Given the description of an element on the screen output the (x, y) to click on. 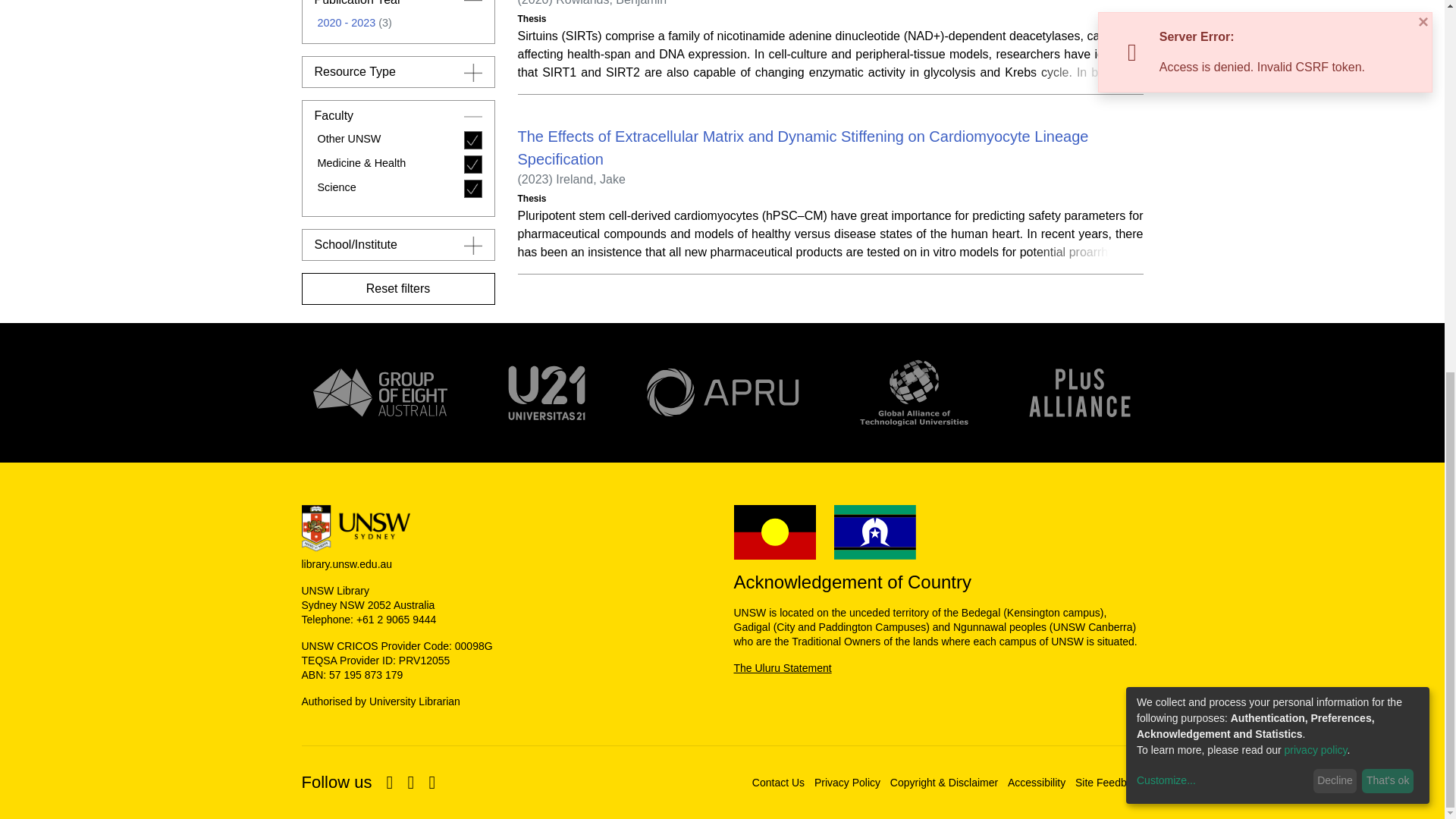
Expand filter (472, 75)
Science (397, 21)
Reset filters (398, 119)
